Given the description of an element on the screen output the (x, y) to click on. 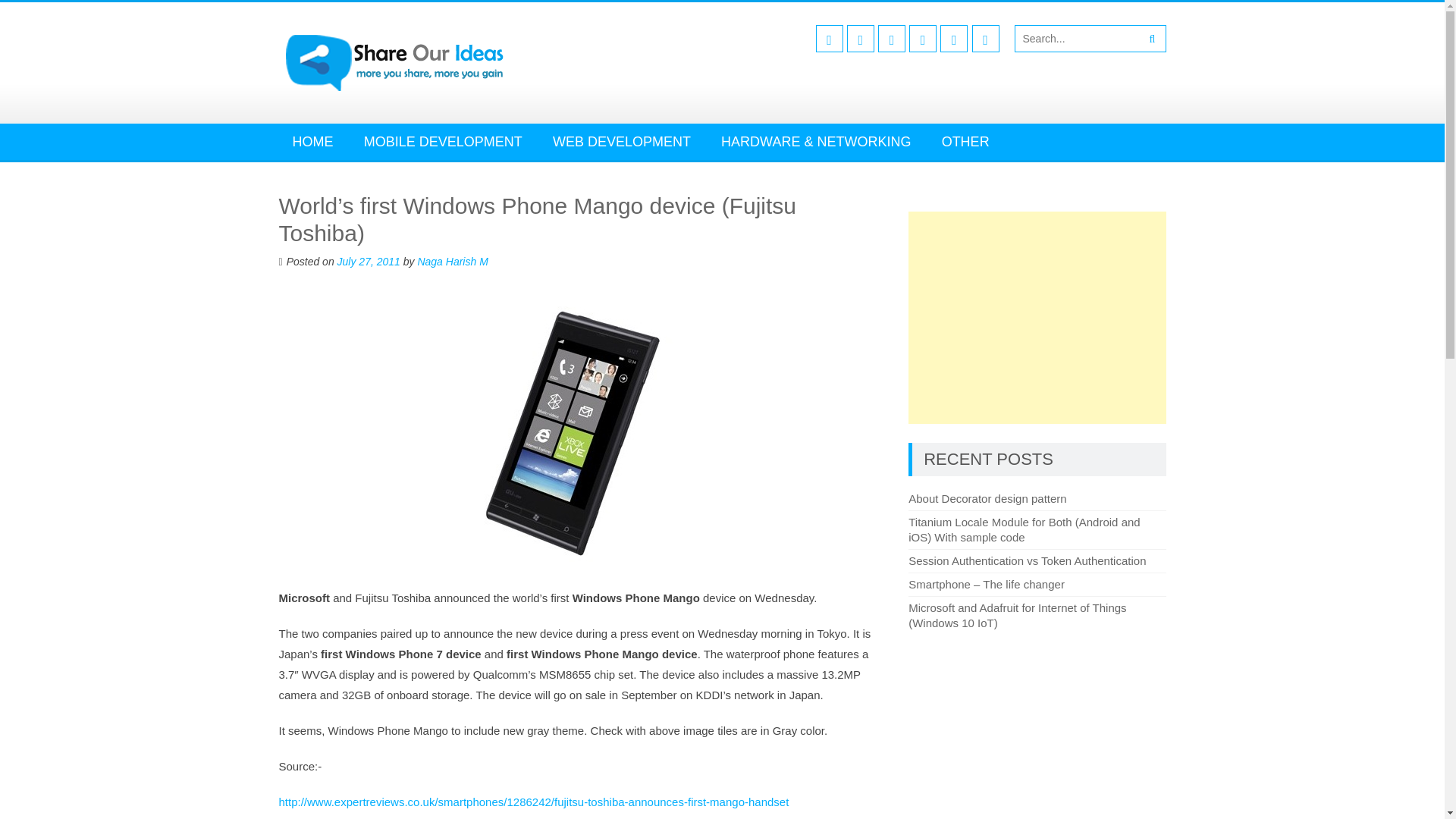
OTHER (965, 141)
RSS (985, 38)
Facebook (829, 38)
Naga Harish M (451, 261)
July 27, 2011 (368, 261)
Web Development (621, 141)
HOME (313, 141)
Google Plus (891, 38)
Twitter (861, 38)
About Decorator design pattern (986, 498)
Mobile Development (442, 141)
MOBILE DEVELOPMENT (442, 141)
Session Authentication vs Token Authentication (1026, 560)
Youtube (922, 38)
WEB DEVELOPMENT (621, 141)
